Given the description of an element on the screen output the (x, y) to click on. 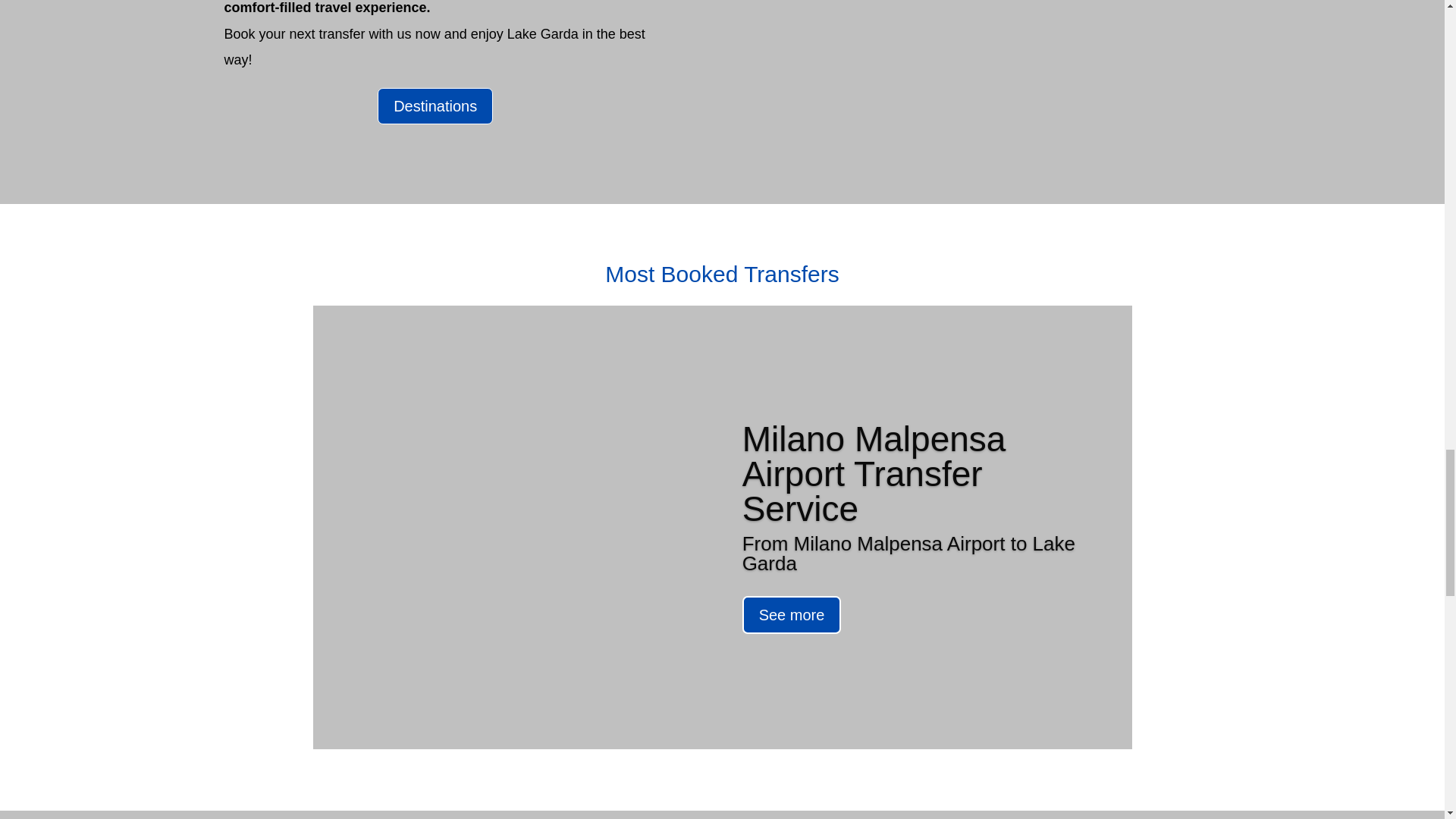
Milano Malpensa Airport Transfer Service (874, 508)
See more (791, 646)
Destinations (435, 105)
